Given the description of an element on the screen output the (x, y) to click on. 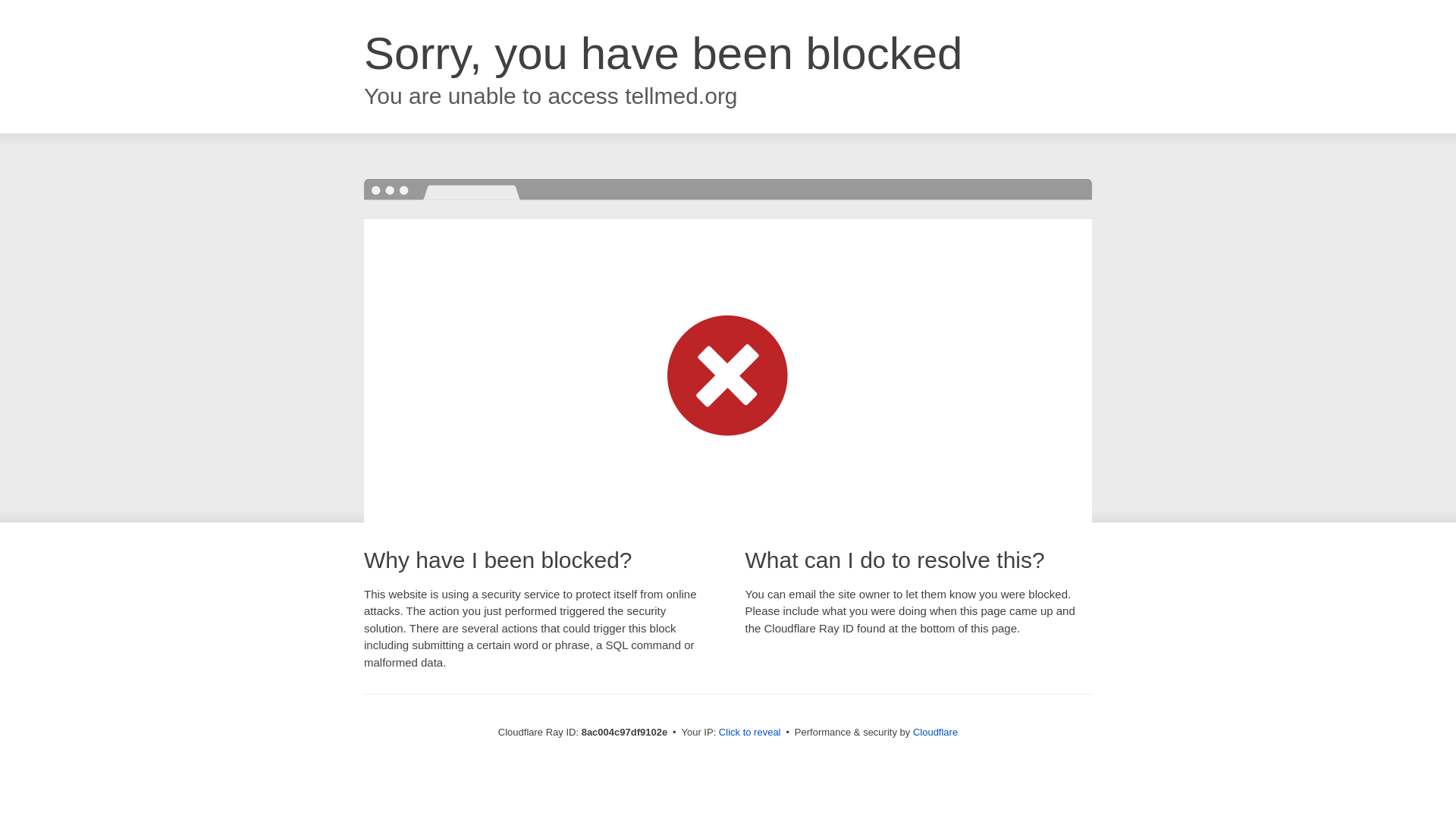
Cloudflare (935, 731)
Click to reveal (749, 732)
